Given the description of an element on the screen output the (x, y) to click on. 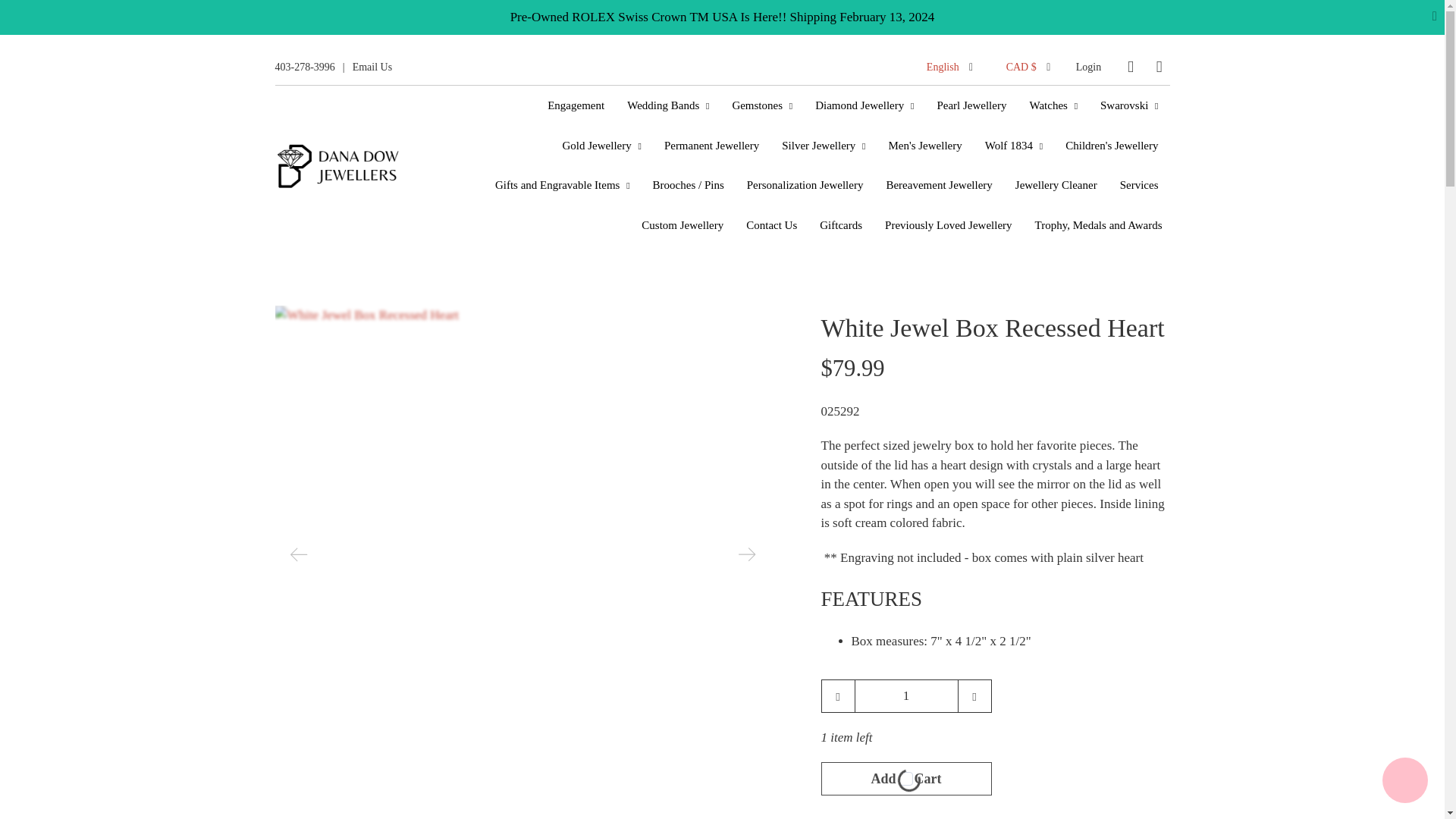
BDT (1033, 439)
BBD (1033, 406)
CHF (1033, 773)
My Account  (1087, 66)
CAD (1033, 706)
BAM (1033, 372)
Email Us (372, 66)
English (951, 67)
1 (905, 695)
